Given the description of an element on the screen output the (x, y) to click on. 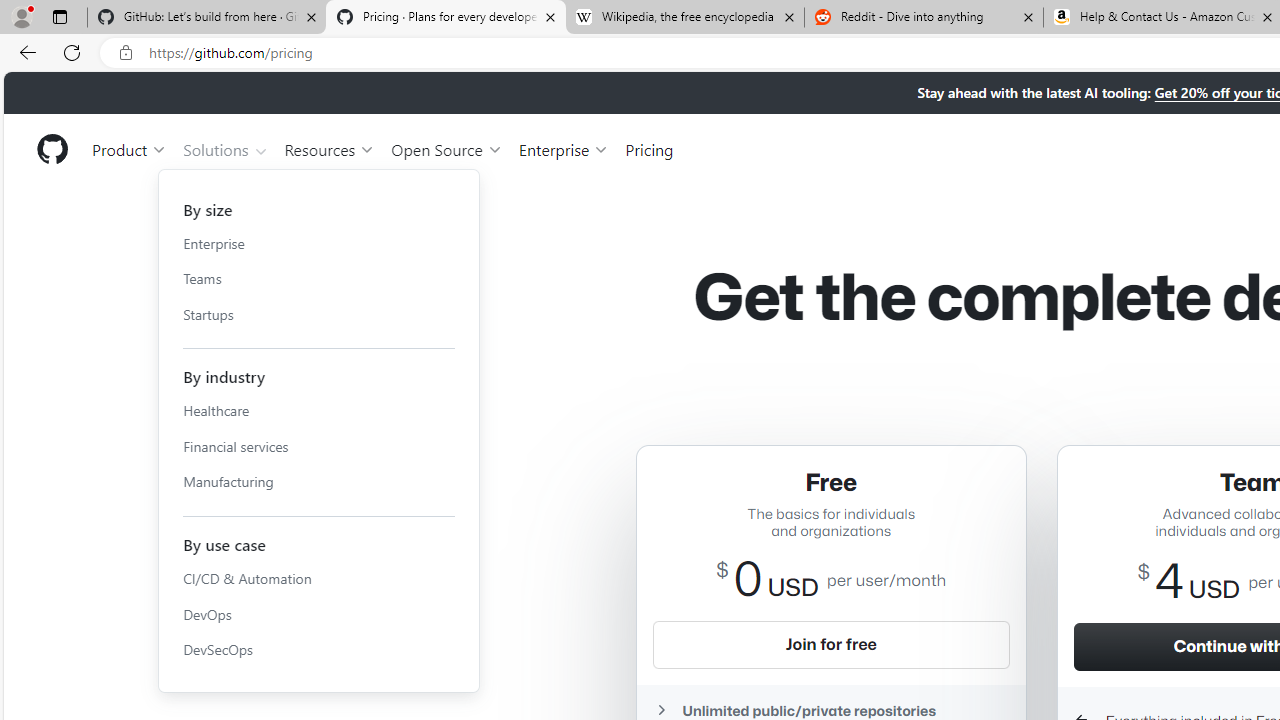
Enterprise (319, 243)
Teams (319, 278)
Healthcare (319, 411)
Teams (319, 278)
DevSecOps (319, 650)
Financial services (319, 446)
